Given the description of an element on the screen output the (x, y) to click on. 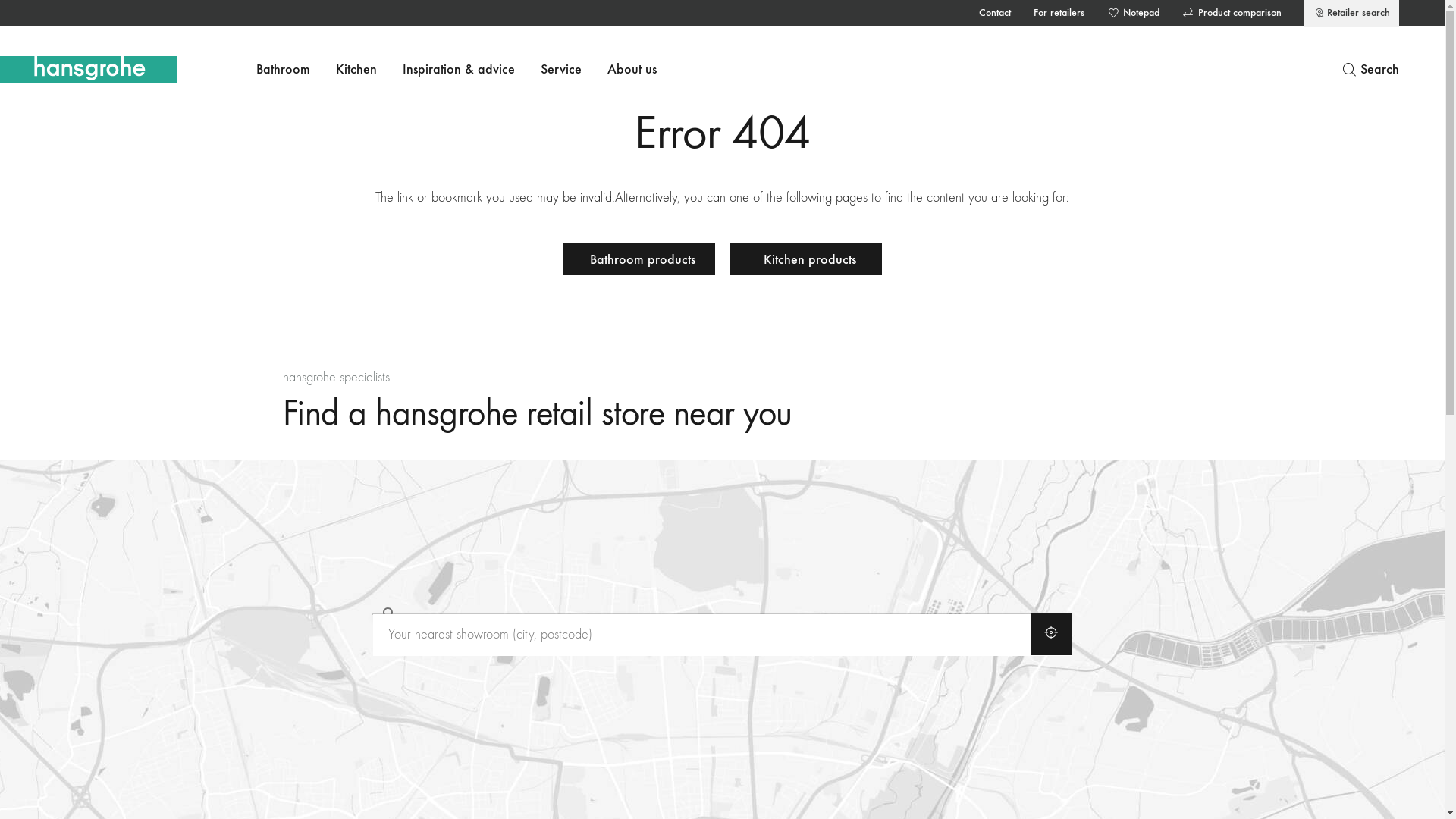
Product comparison Element type: text (1231, 12)
Notepad Element type: text (1133, 12)
Bathroom products Element type: text (638, 259)
hansgrohe logo Element type: hover (88, 69)
Search Element type: text (1370, 69)
For retailers Element type: text (1058, 12)
Contact Element type: text (994, 12)
Kitchen products Element type: text (805, 259)
Retailer search Element type: text (1351, 13)
